Given the description of an element on the screen output the (x, y) to click on. 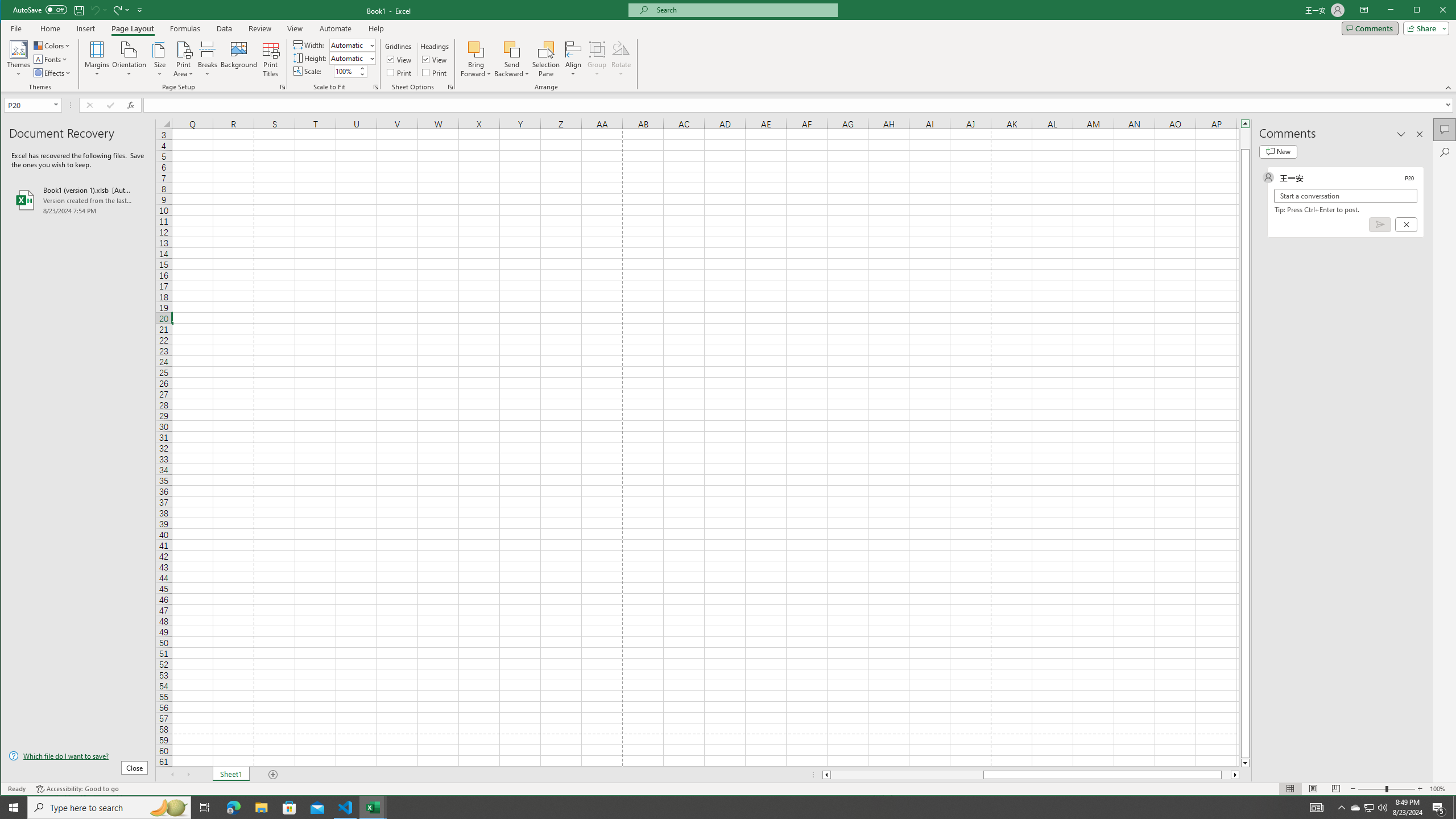
Sheet Options (449, 86)
AutomationID: 4105 (1316, 807)
Rotate (620, 59)
Cancel (1405, 224)
Microsoft Store (289, 807)
Start a conversation (1344, 195)
Bring Forward (476, 59)
Breaks (207, 59)
